Given the description of an element on the screen output the (x, y) to click on. 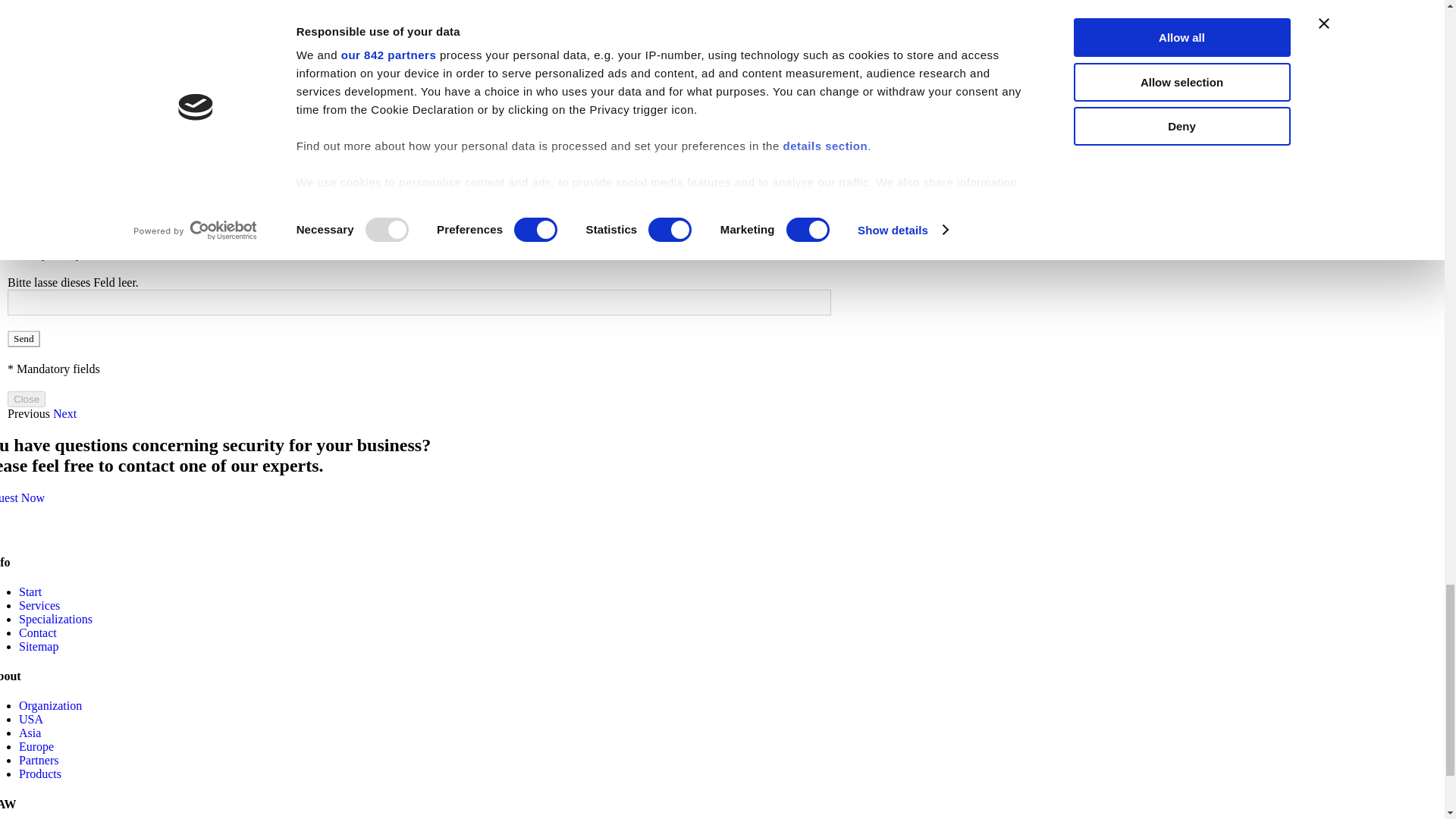
1 (27, 225)
Send (23, 338)
